Given the description of an element on the screen output the (x, y) to click on. 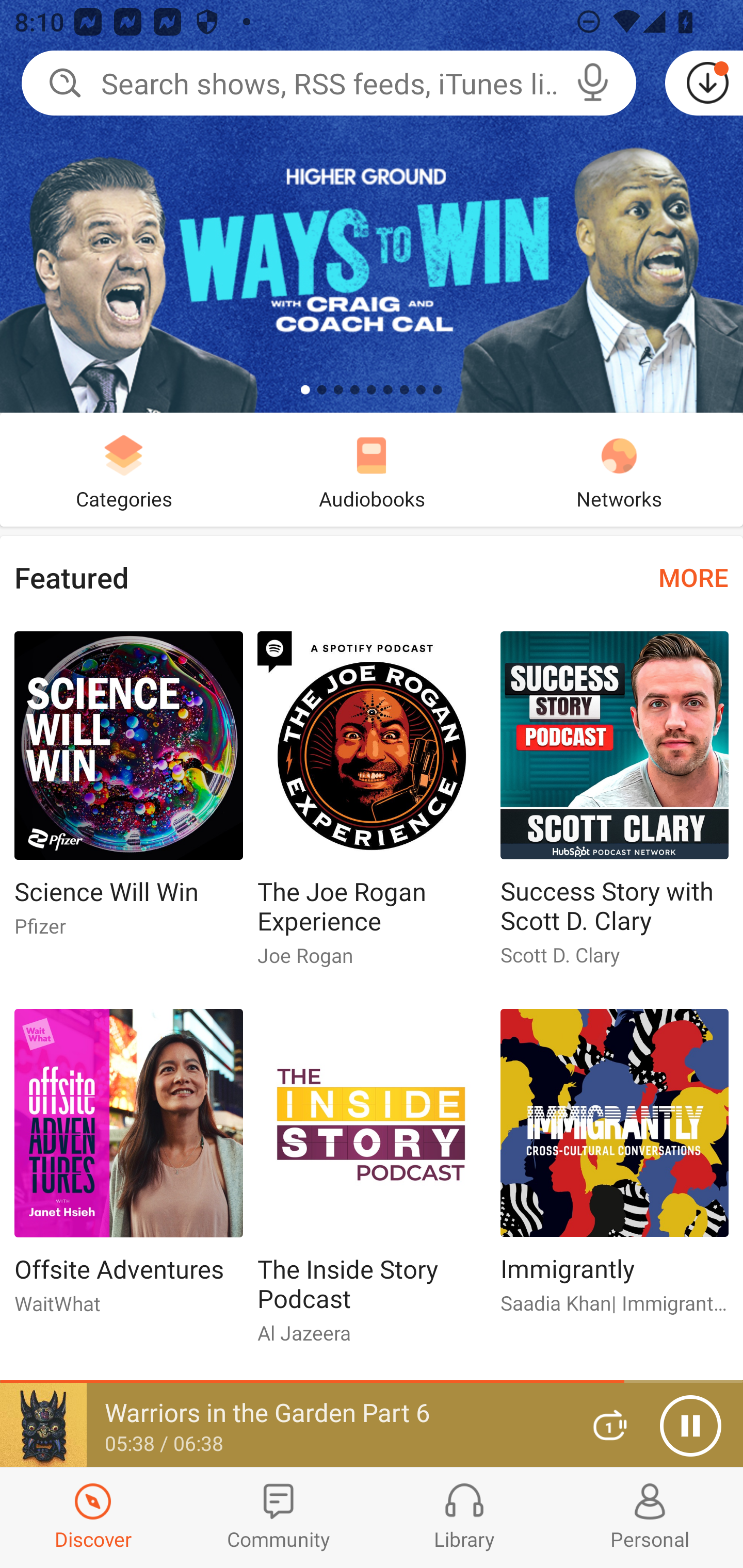
Ways To Win (371, 206)
Categories (123, 469)
Audiobooks (371, 469)
Networks (619, 469)
MORE (693, 576)
Science Will Win Science Will Win Pfizer (128, 792)
Offsite Adventures Offsite Adventures WaitWhat (128, 1169)
Warriors in the Garden Part 6 05:38 / 06:38 (283, 1424)
Pause (690, 1425)
Discover (92, 1517)
Community (278, 1517)
